Given the description of an element on the screen output the (x, y) to click on. 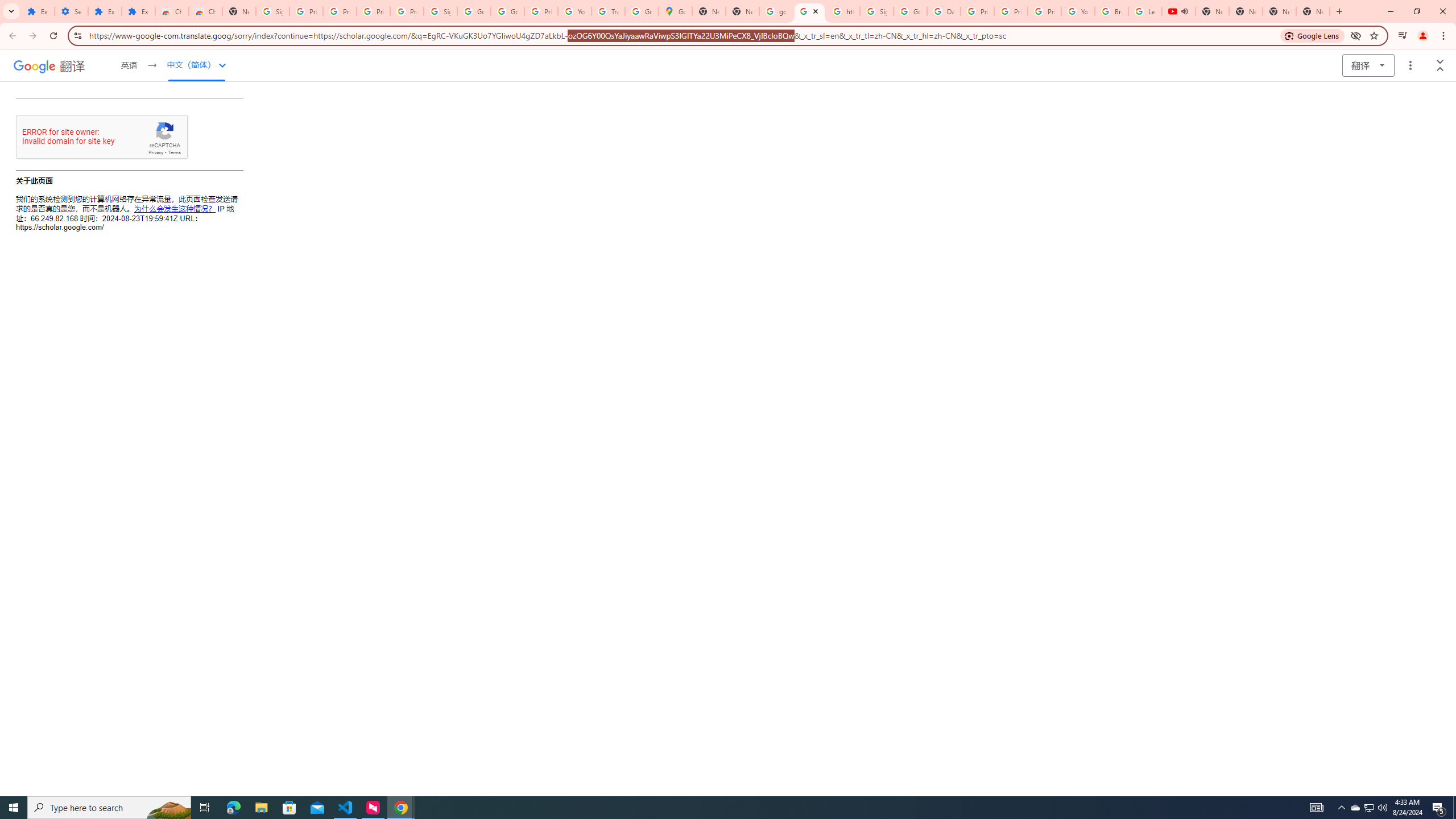
Sign in - Google Accounts (272, 11)
Extensions (104, 11)
https://scholar.google.com/ (809, 11)
